Given the description of an element on the screen output the (x, y) to click on. 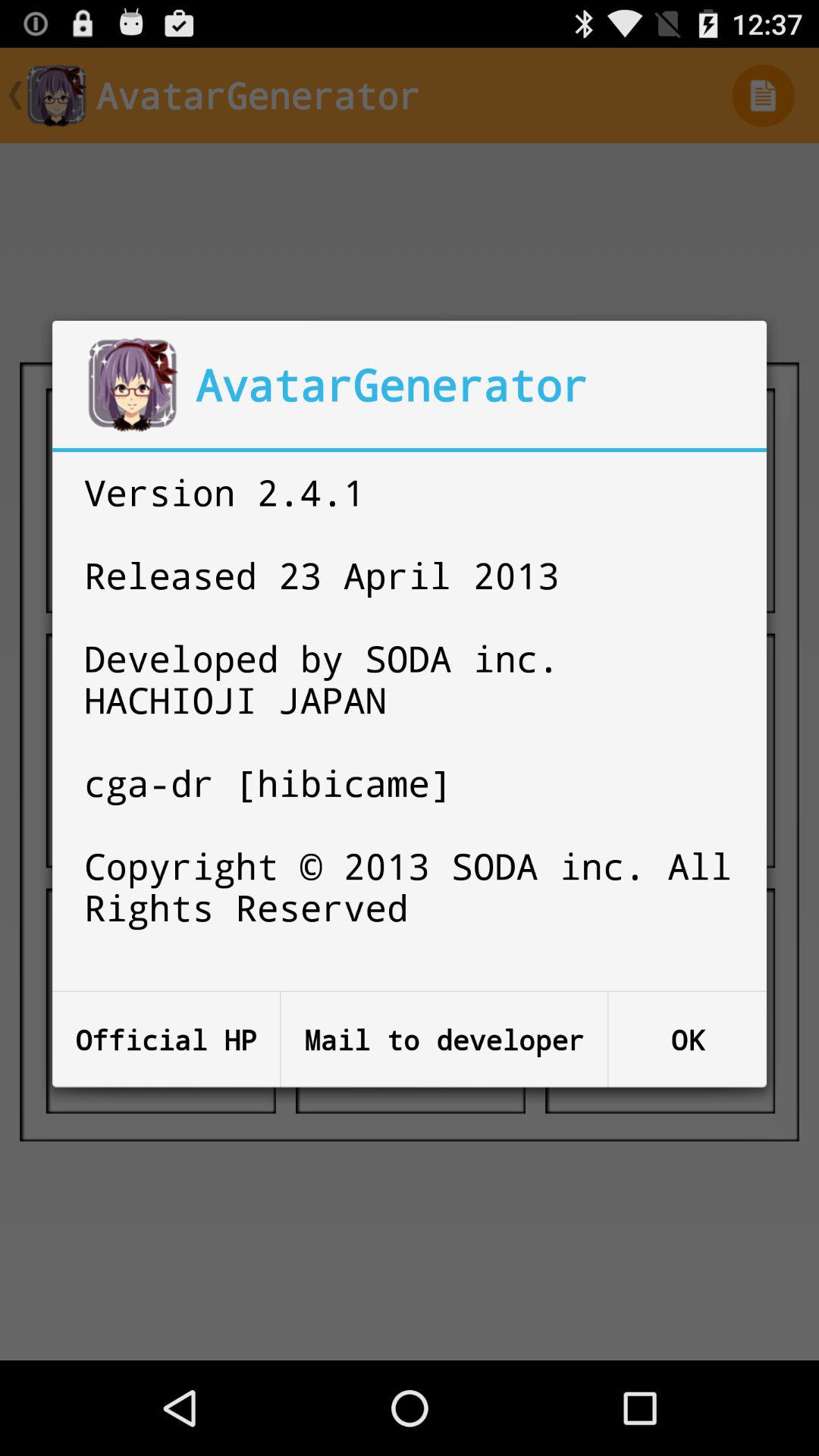
scroll until ok (687, 1039)
